Given the description of an element on the screen output the (x, y) to click on. 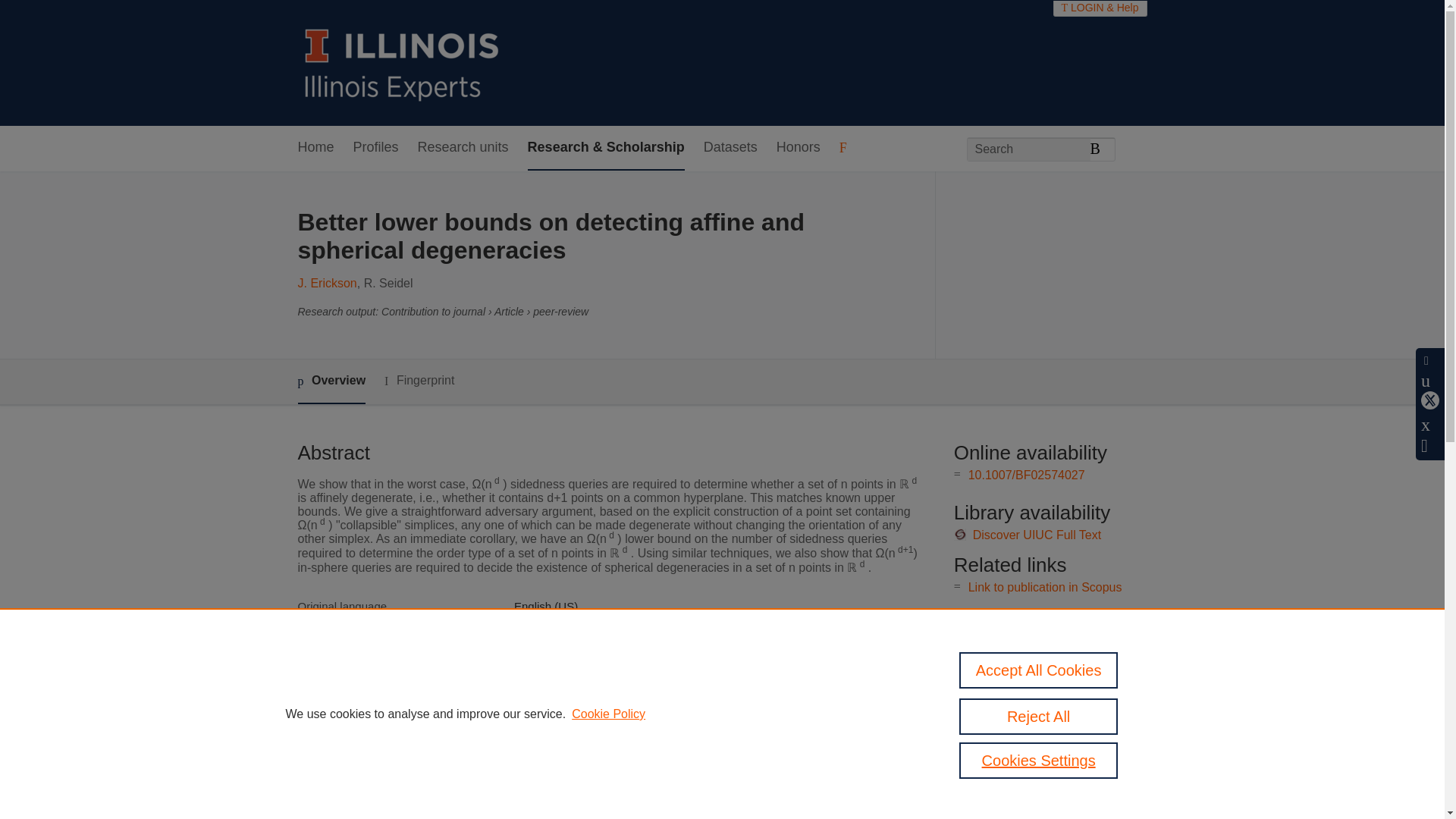
University of Illinois Urbana-Champaign Home (402, 62)
Datasets (730, 148)
Research units (462, 148)
Profiles (375, 148)
Link to publication in Scopus (1045, 586)
Honors (798, 148)
J. Erickson (326, 282)
Overview (331, 381)
Fingerprint (419, 380)
Discover UIUC Full Text (1037, 534)
